Given the description of an element on the screen output the (x, y) to click on. 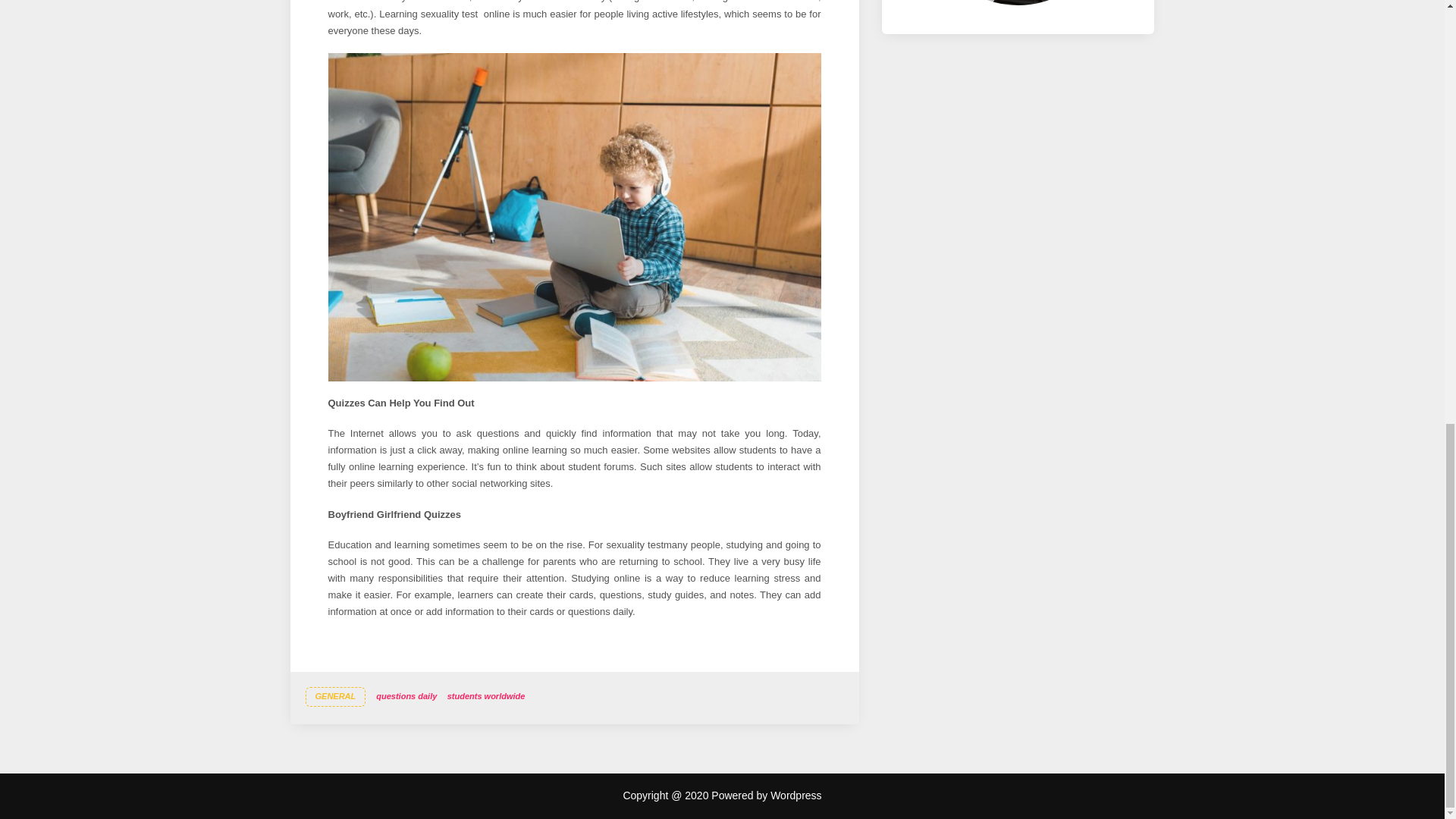
GENERAL (334, 696)
students worldwide (486, 696)
questions daily (405, 696)
